Given the description of an element on the screen output the (x, y) to click on. 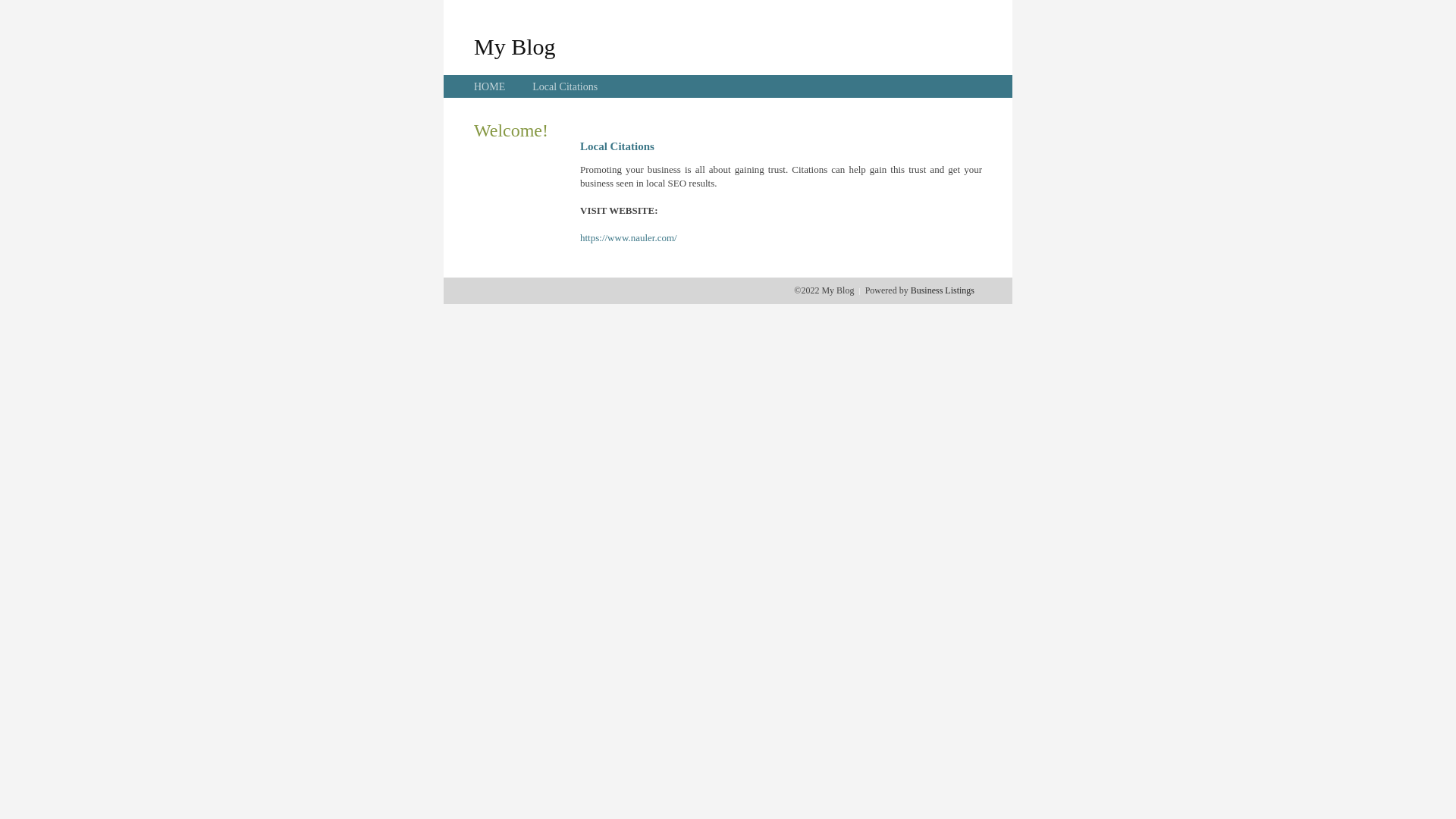
My Blog Element type: text (514, 46)
Local Citations Element type: text (564, 86)
Business Listings Element type: text (942, 290)
HOME Element type: text (489, 86)
https://www.nauler.com/ Element type: text (628, 237)
